Given the description of an element on the screen output the (x, y) to click on. 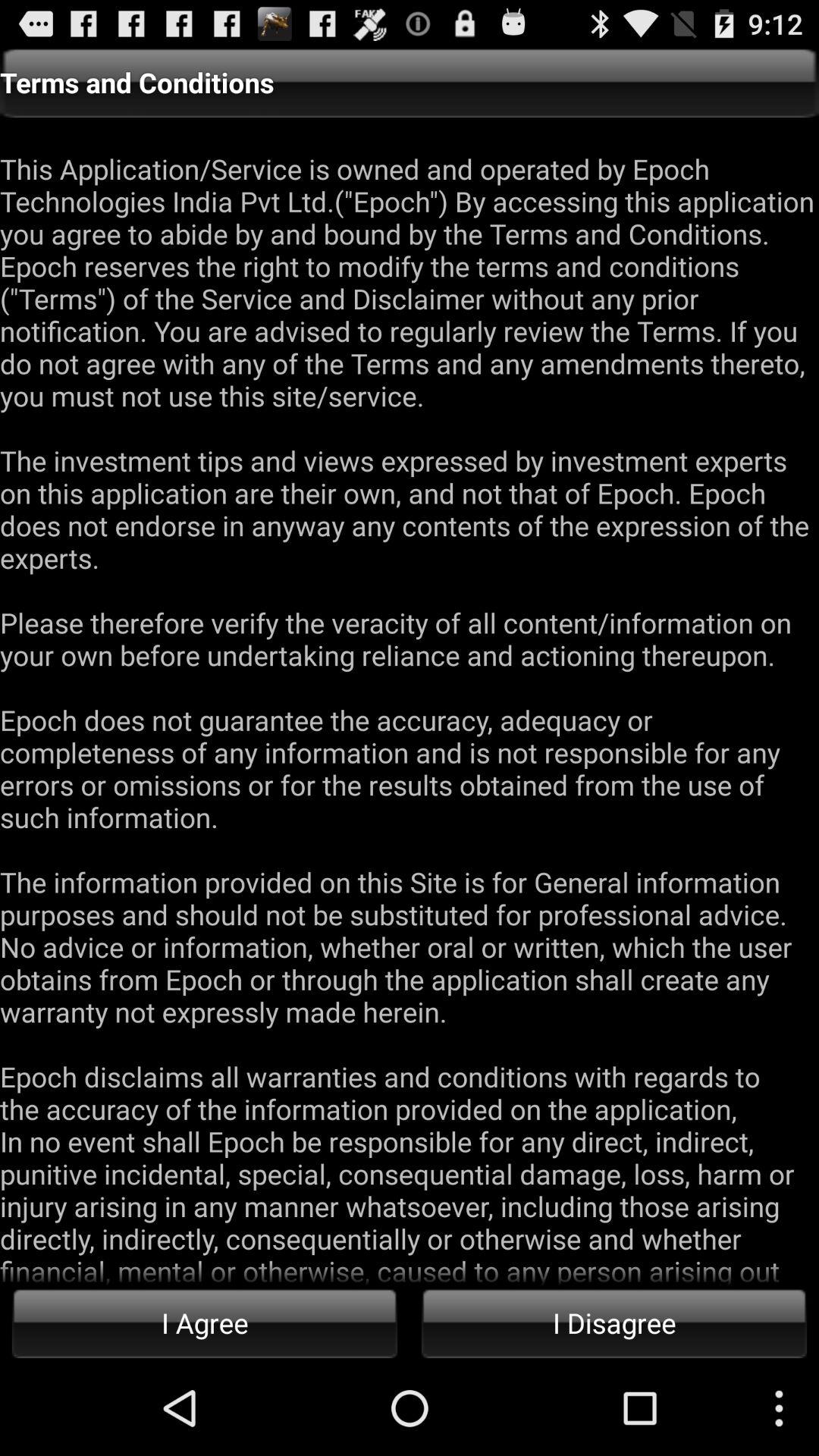
choose the item next to  i agree (614, 1323)
